Given the description of an element on the screen output the (x, y) to click on. 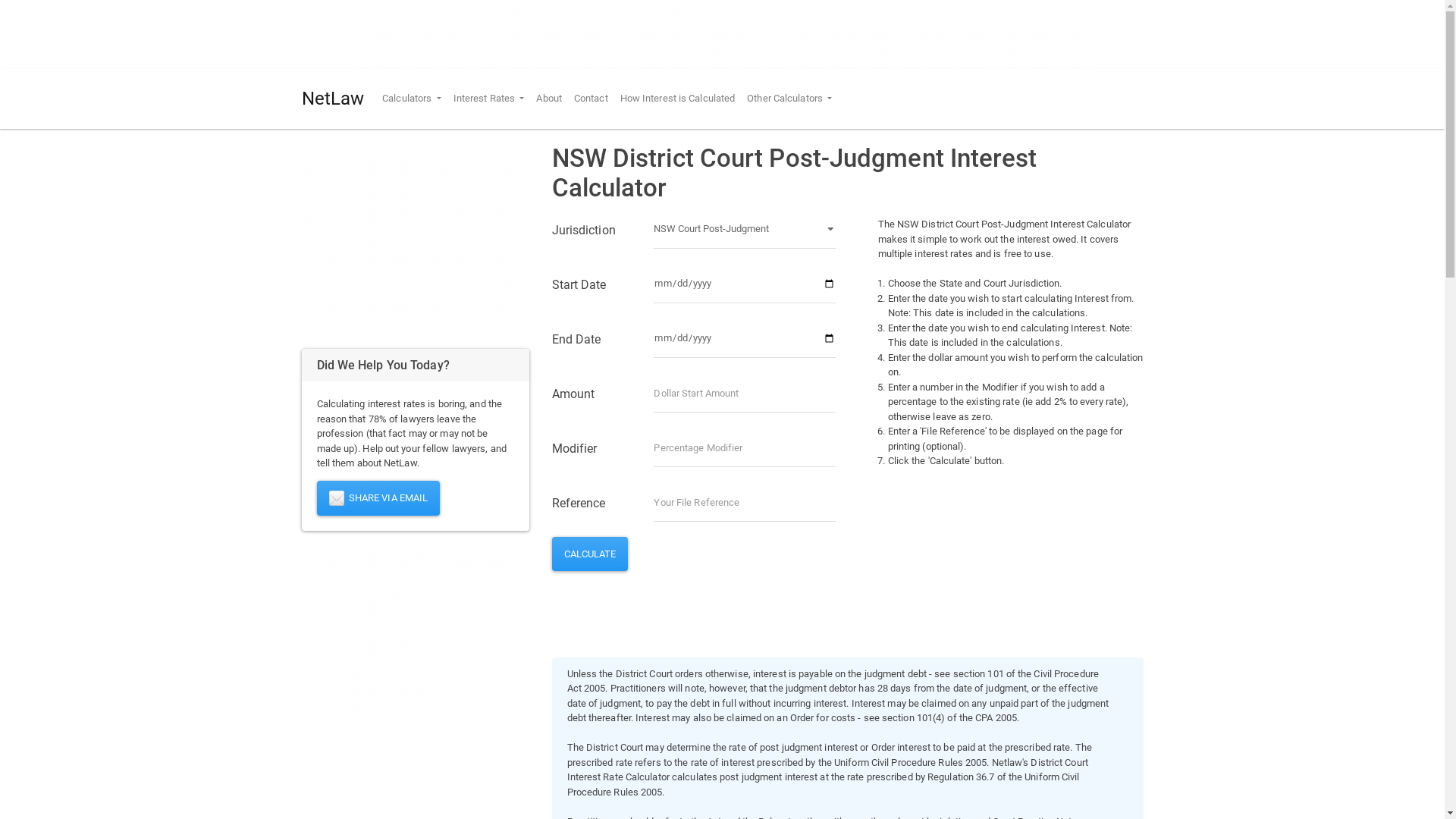
Interest Rates Element type: text (488, 98)
Other Calculators Element type: text (788, 98)
About Element type: text (548, 98)
3rd party ad content Element type: hover (415, 639)
Contact Element type: text (590, 98)
3rd party ad content Element type: hover (722, 34)
NetLaw Element type: text (332, 98)
Calculate Element type: text (590, 553)
  SHARE VIA EMAIL Element type: text (378, 497)
Calculators Element type: text (411, 98)
How Interest is Calculated Element type: text (677, 98)
3rd party ad content Element type: hover (415, 238)
